Given the description of an element on the screen output the (x, y) to click on. 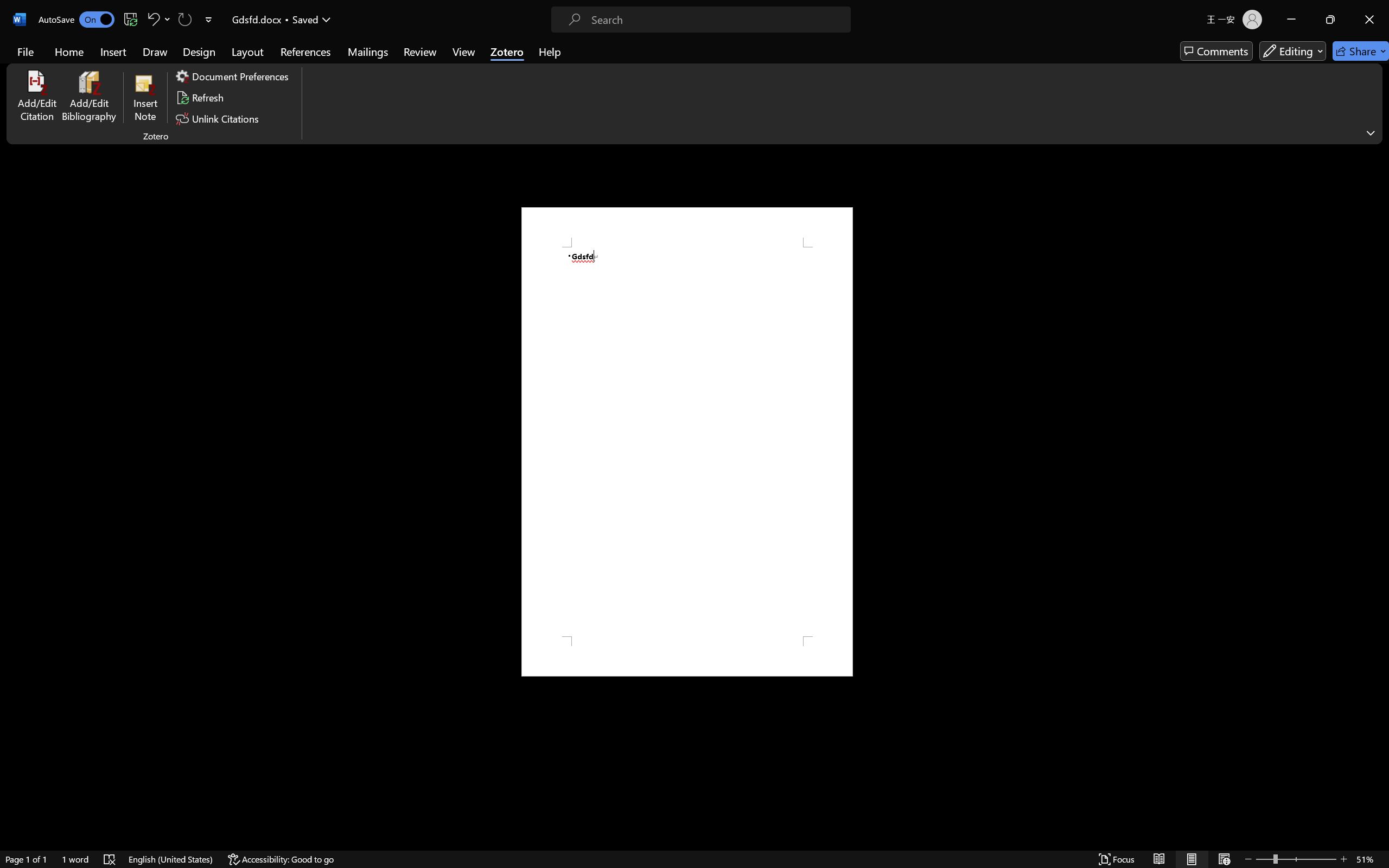
Page 1 content (686, 441)
